Given the description of an element on the screen output the (x, y) to click on. 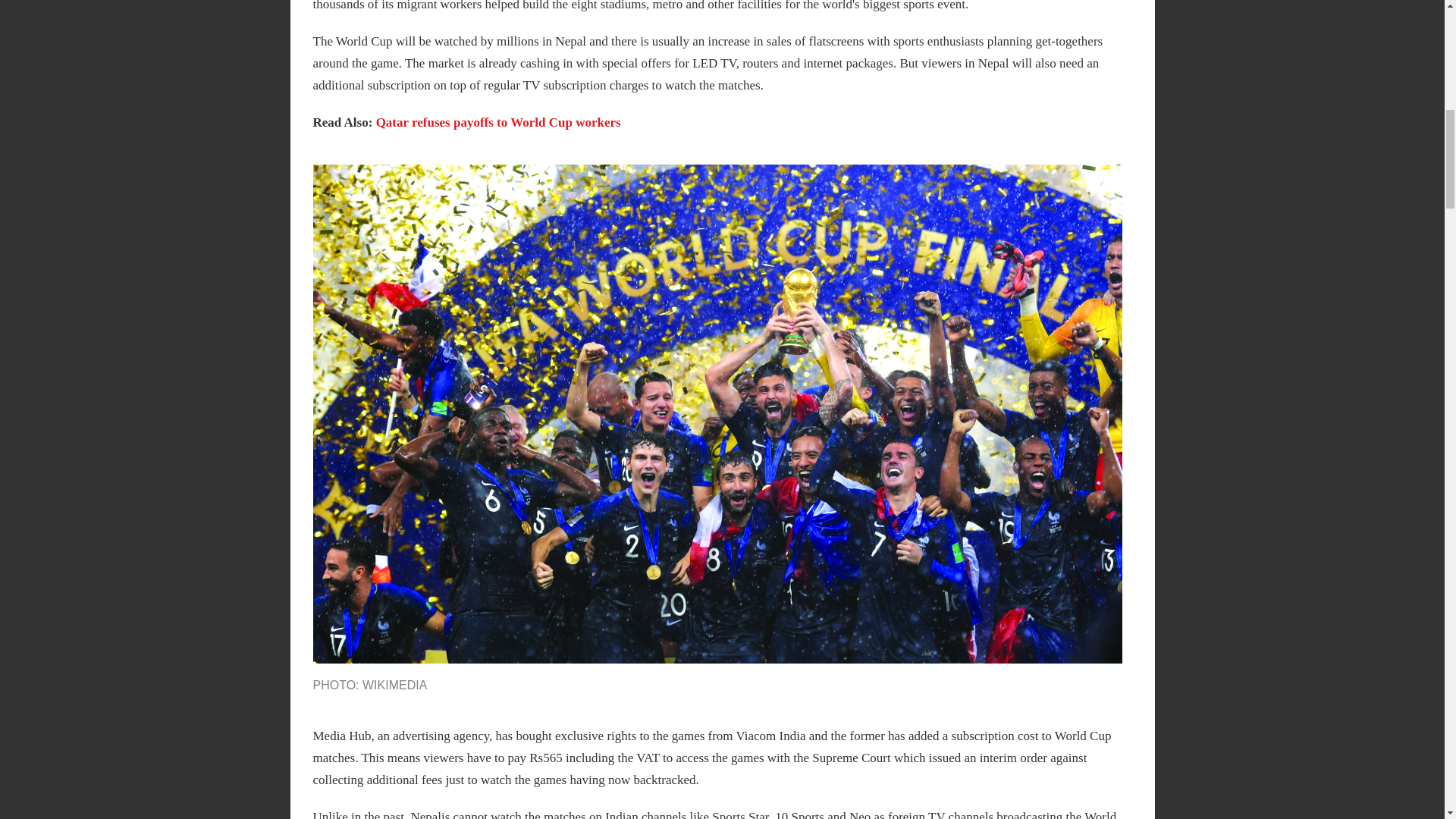
workers (597, 122)
Qatar refuses payoffs to World Cup (473, 122)
